Given the description of an element on the screen output the (x, y) to click on. 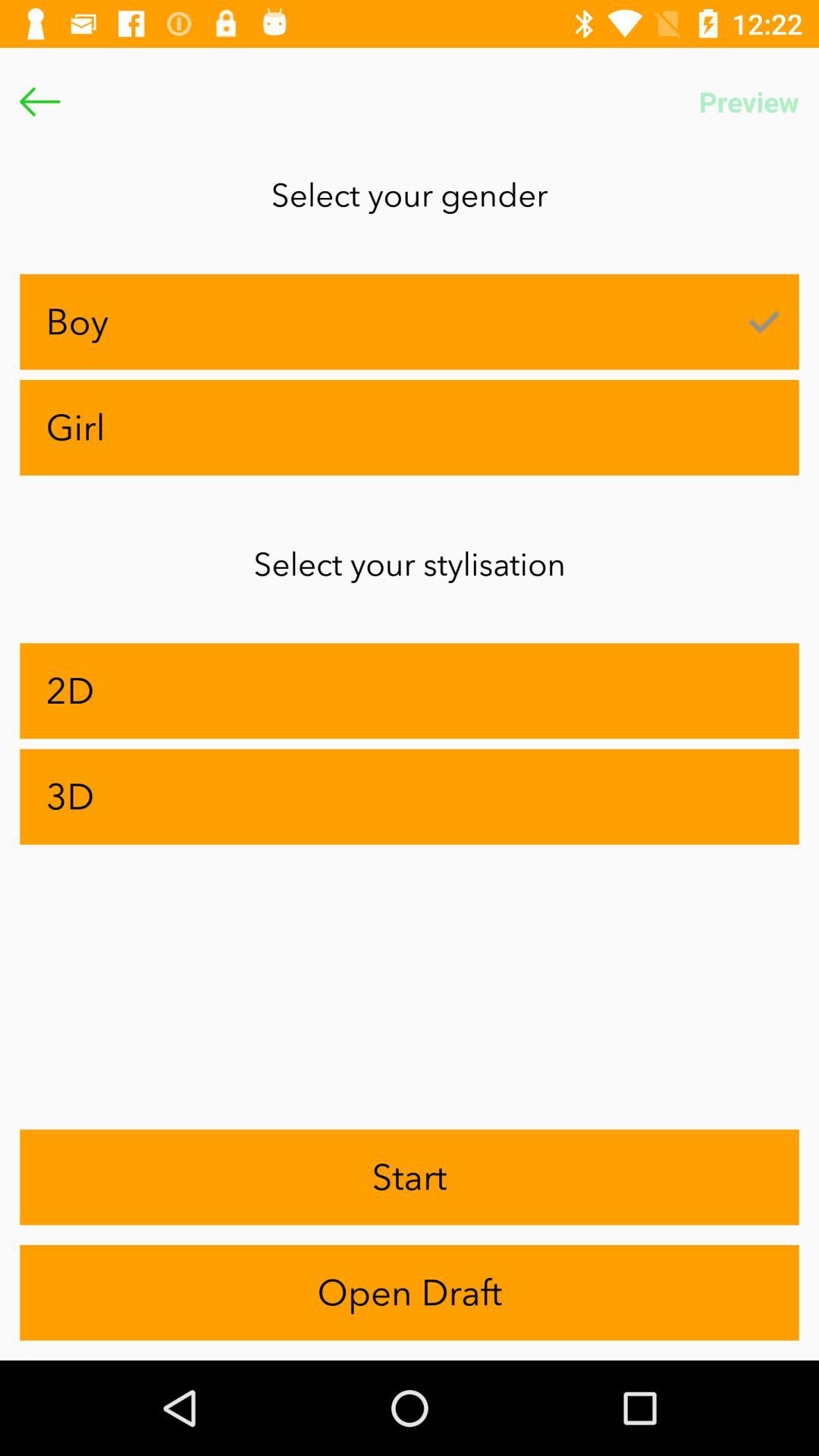
click item at the top left corner (40, 101)
